Given the description of an element on the screen output the (x, y) to click on. 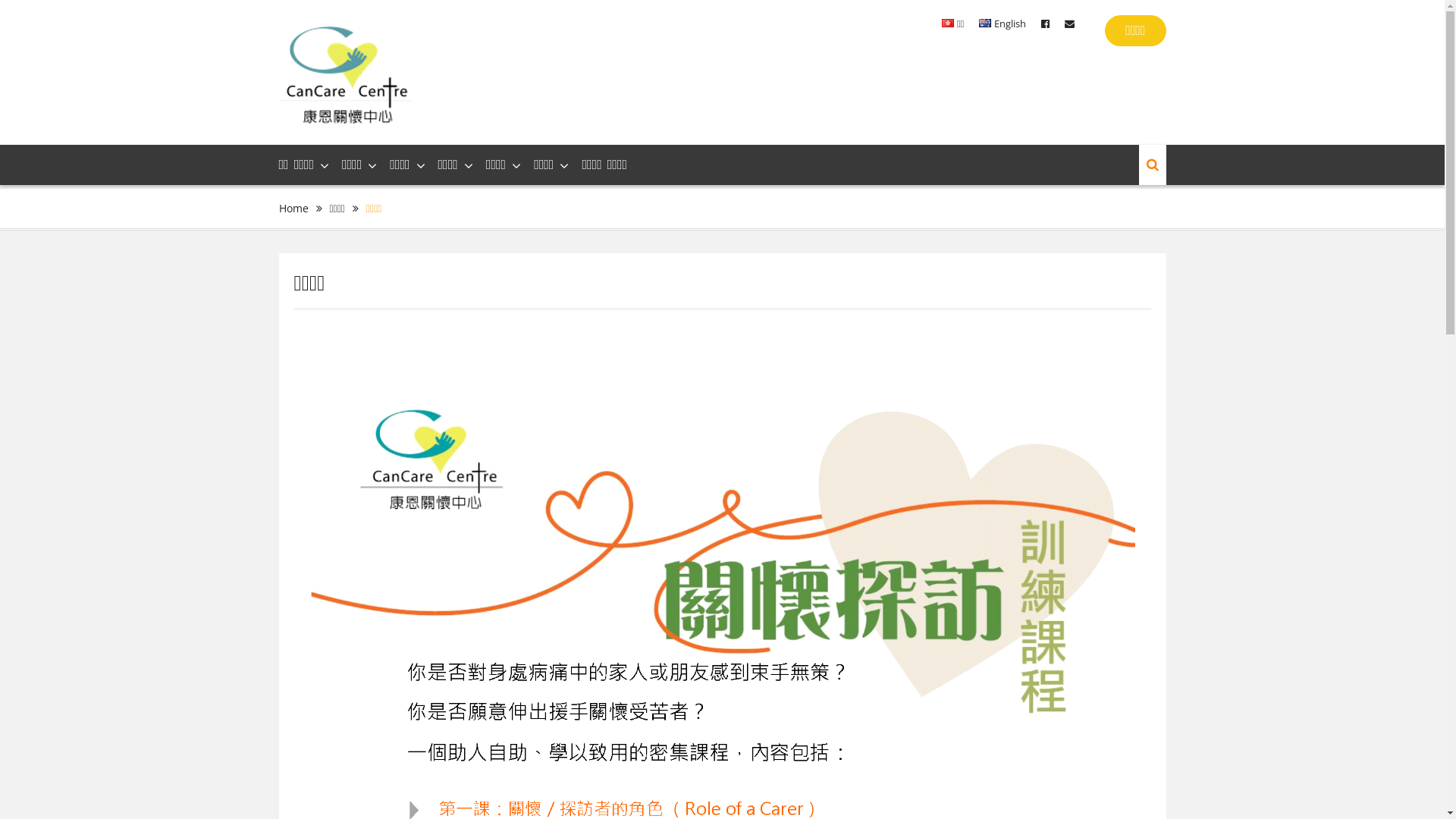
Skip to content Element type: text (0, 0)
English Element type: text (1002, 24)
Home Element type: text (293, 207)
English Element type: hover (985, 22)
